Given the description of an element on the screen output the (x, y) to click on. 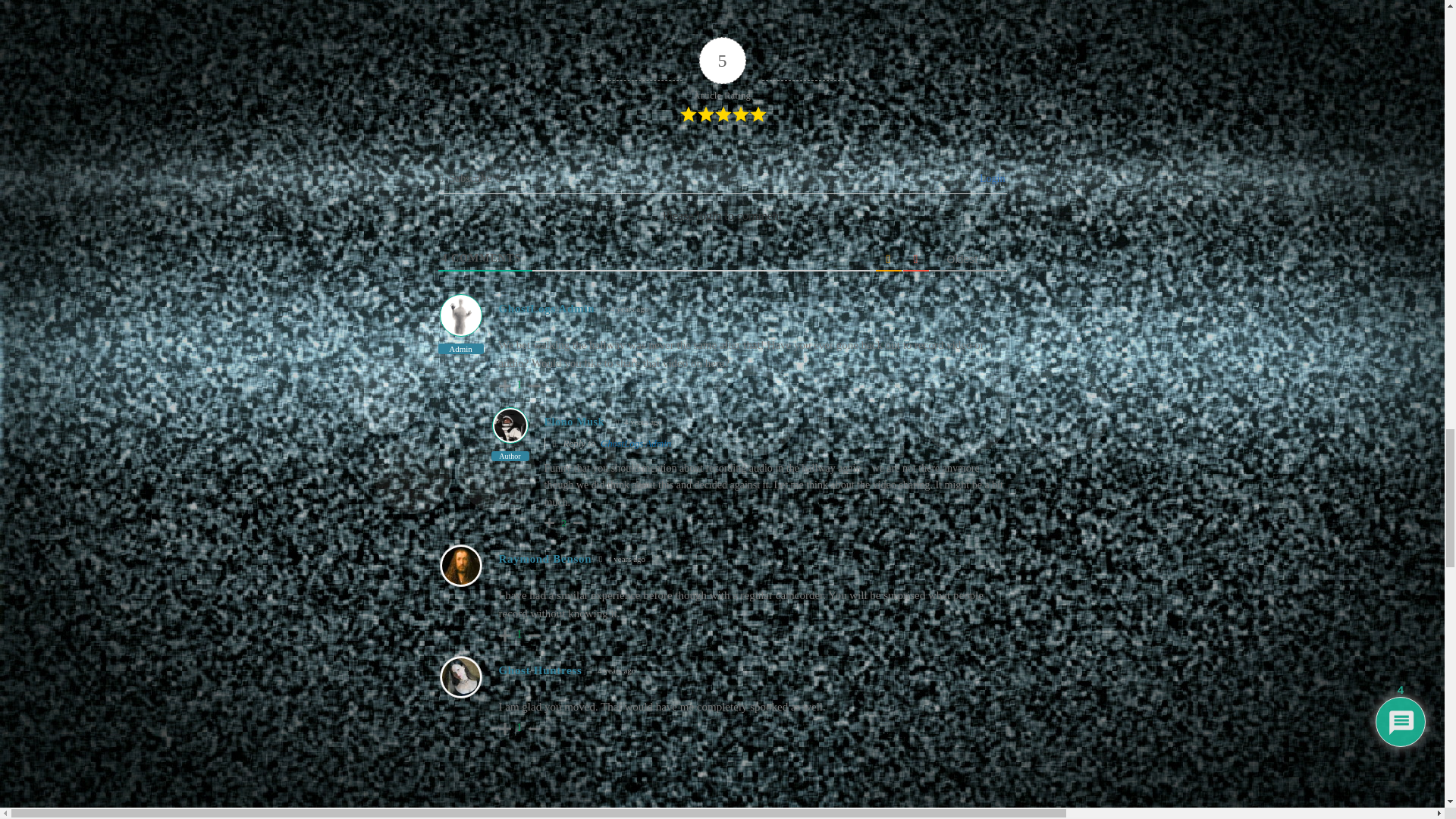
GhostLogs Admin (547, 308)
Elono Musk (574, 421)
Login (990, 178)
July 17, 2020 4:24 pm (638, 421)
July 17, 2020 4:23 pm (625, 309)
1 (519, 385)
